Given the description of an element on the screen output the (x, y) to click on. 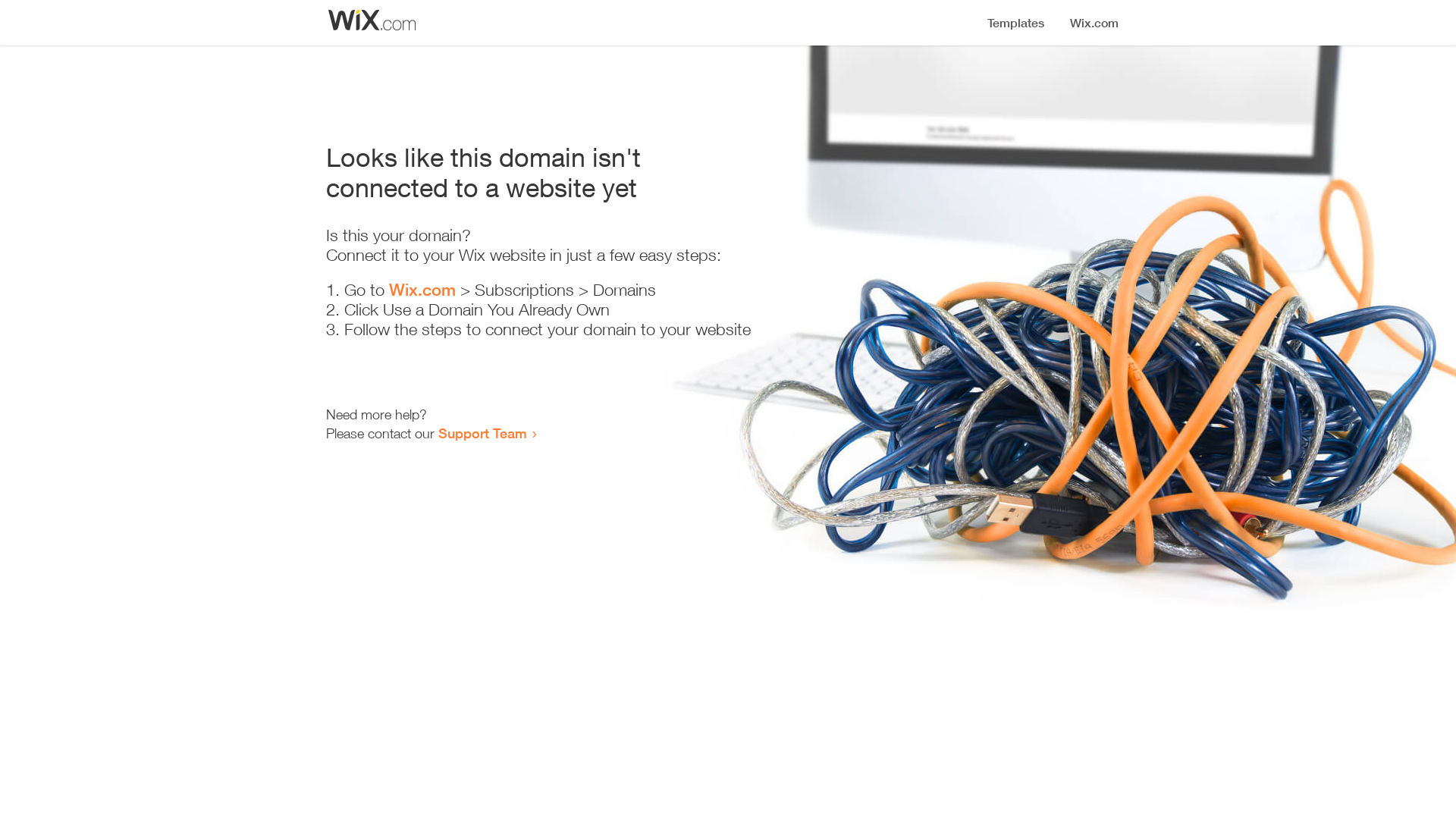
Wix.com Element type: text (422, 289)
Support Team Element type: text (482, 432)
